Given the description of an element on the screen output the (x, y) to click on. 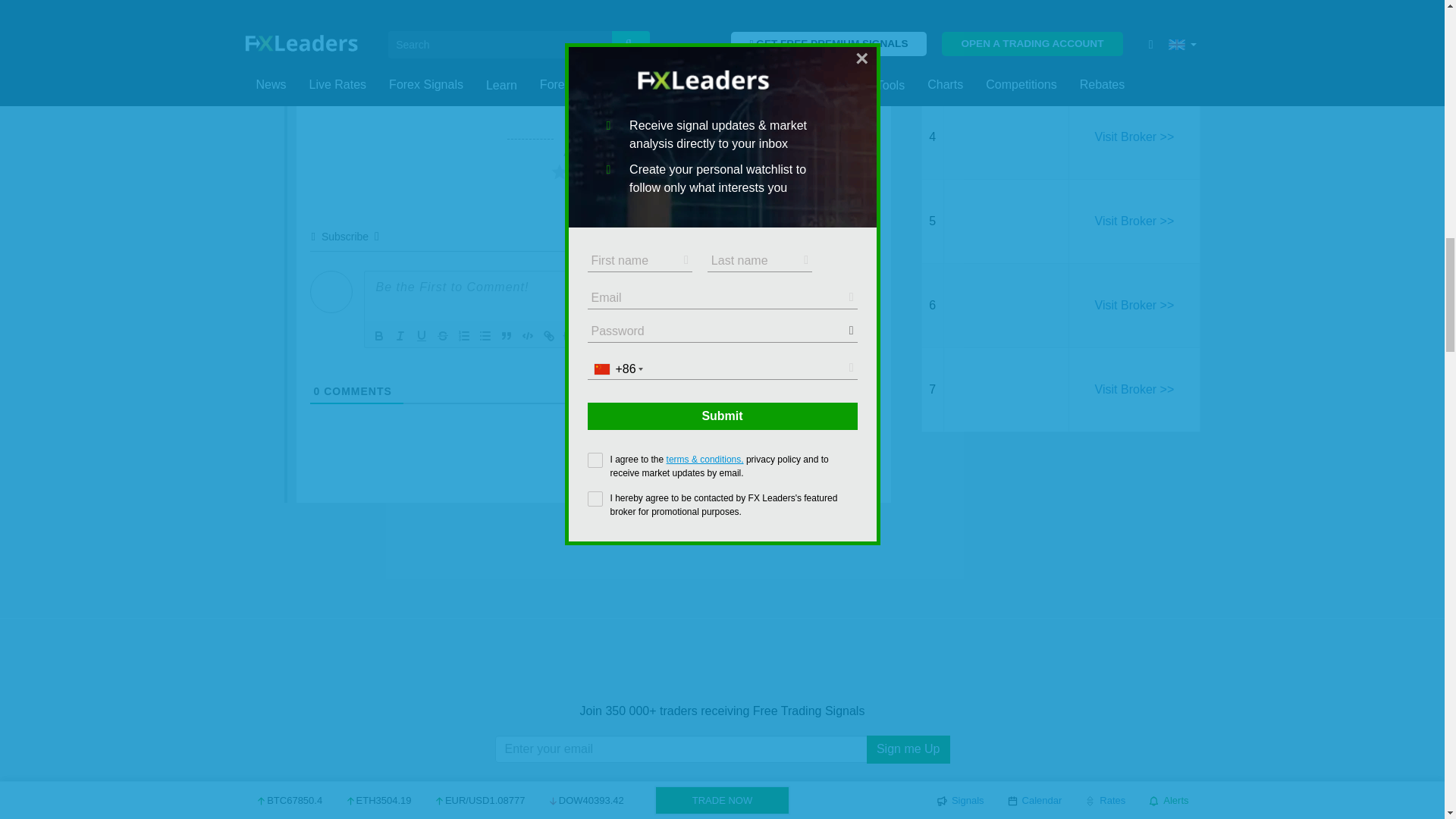
Italic (400, 335)
Strike (442, 335)
Unordered List (485, 335)
Underline (421, 335)
Link (548, 335)
Spoiler (590, 335)
Blockquote (506, 335)
Code Block (527, 335)
Source Code (568, 335)
Bold (379, 335)
Ordered List (463, 335)
